Given the description of an element on the screen output the (x, y) to click on. 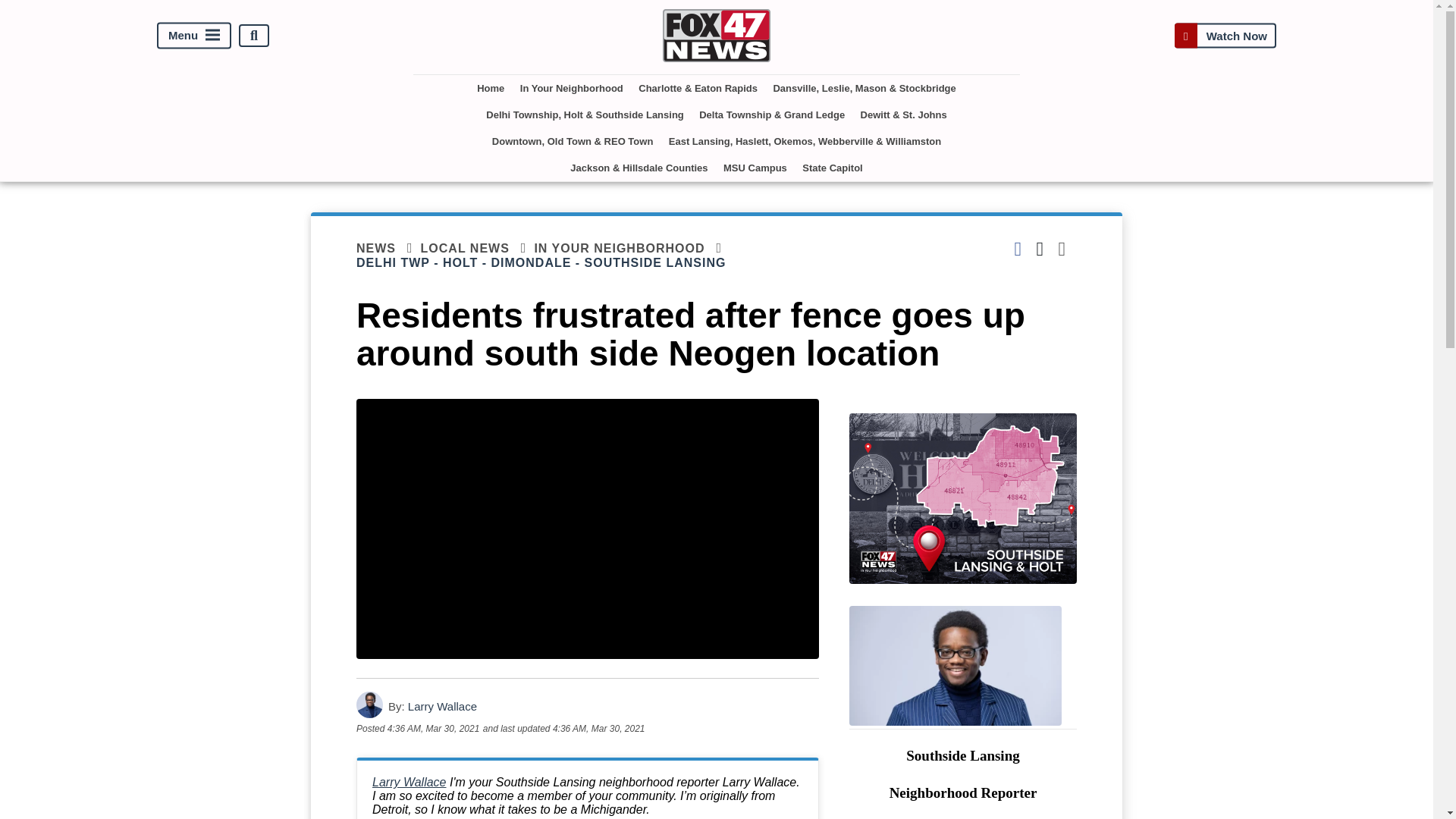
Watch Now (1224, 34)
Menu (194, 35)
